Given the description of an element on the screen output the (x, y) to click on. 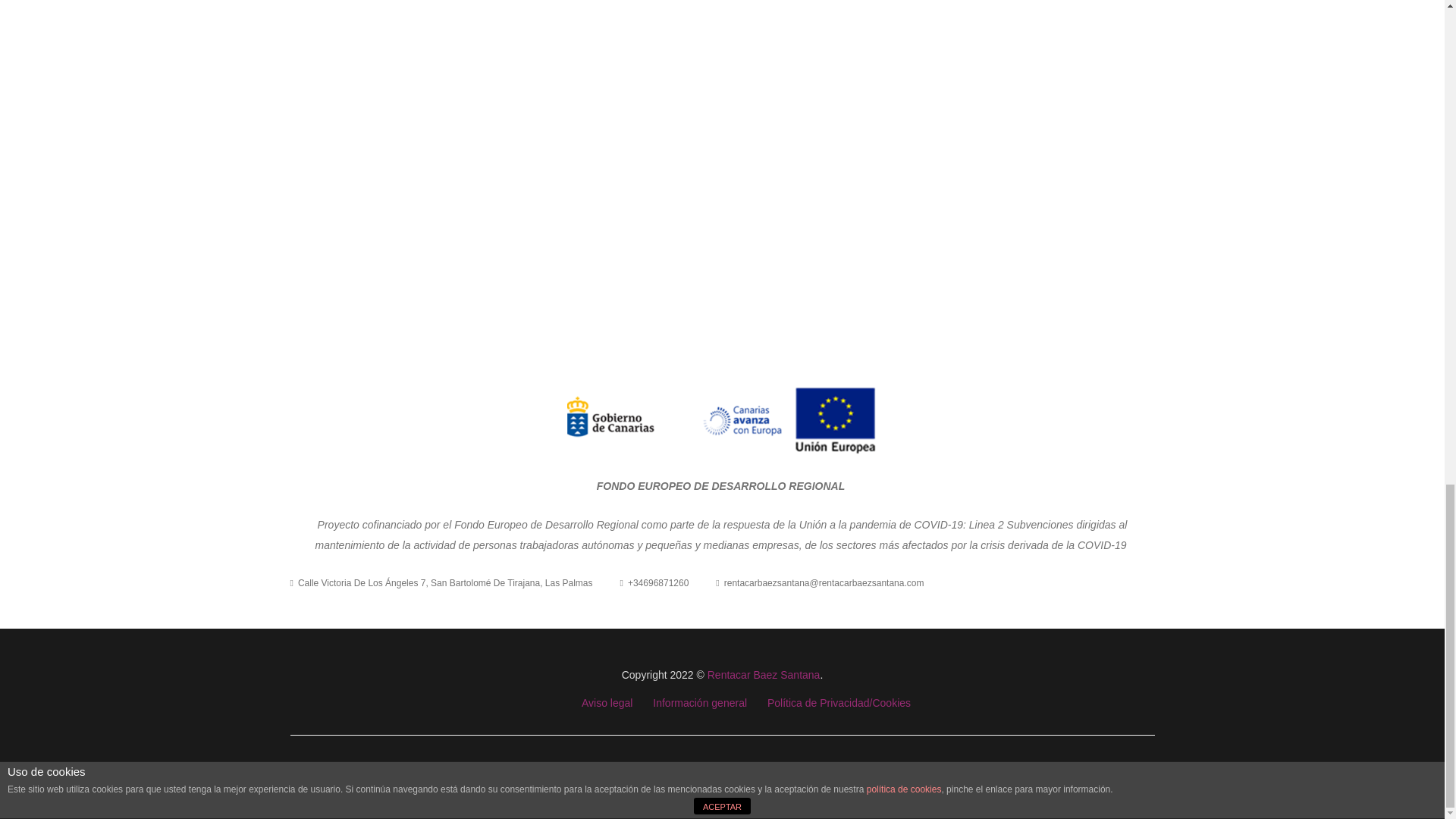
Aviso legal (605, 702)
Rentacar Baez Santana (764, 674)
